Given the description of an element on the screen output the (x, y) to click on. 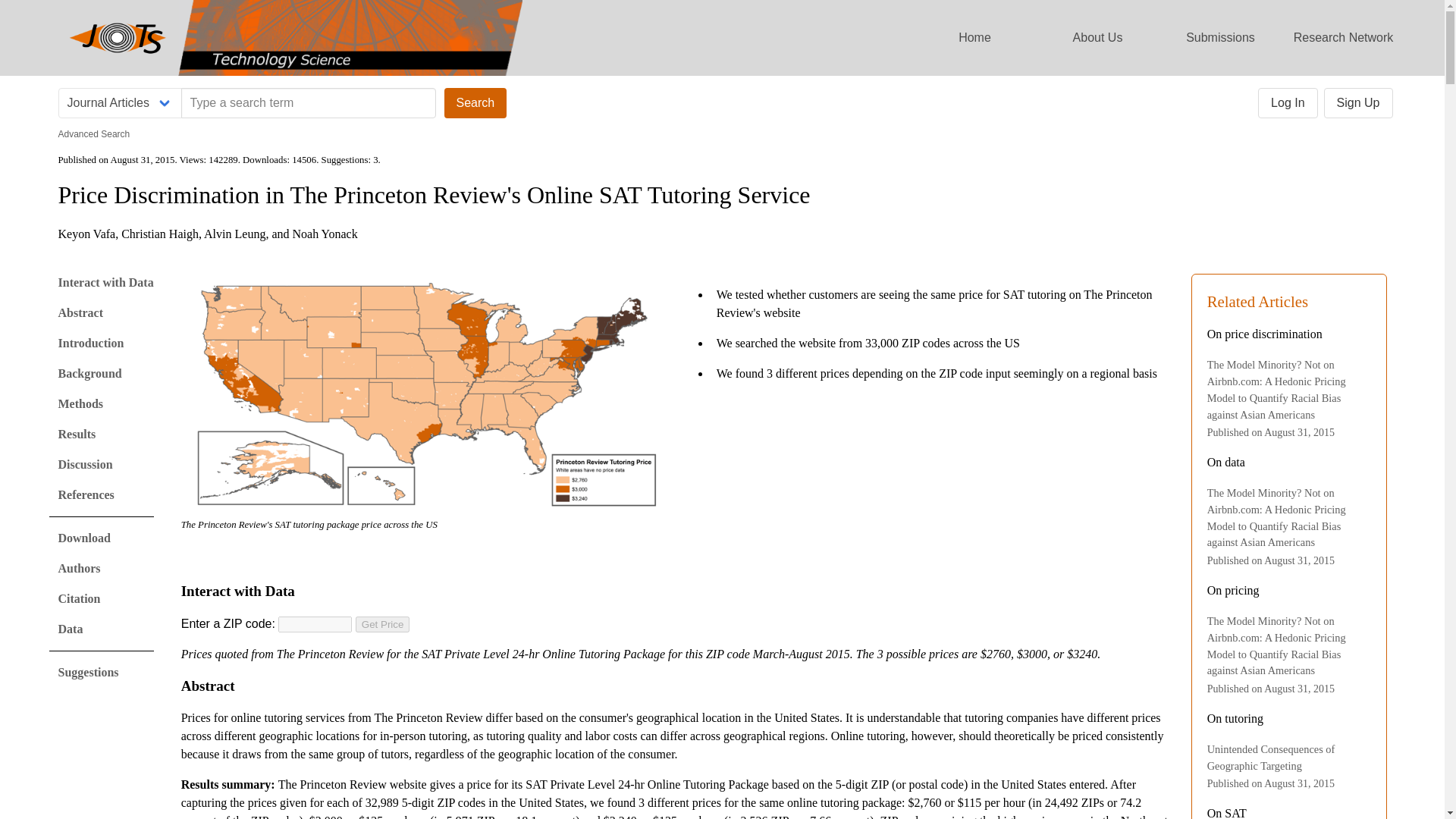
Home (973, 38)
About Us (1096, 38)
Log In (1287, 102)
Sign Up (1358, 102)
Get Price (382, 624)
Background (89, 373)
Data (70, 628)
Search (475, 102)
Introduction (90, 342)
Advanced Search (93, 133)
Interact with Data (105, 282)
Abstract (80, 312)
Suggestions (87, 671)
